Given the description of an element on the screen output the (x, y) to click on. 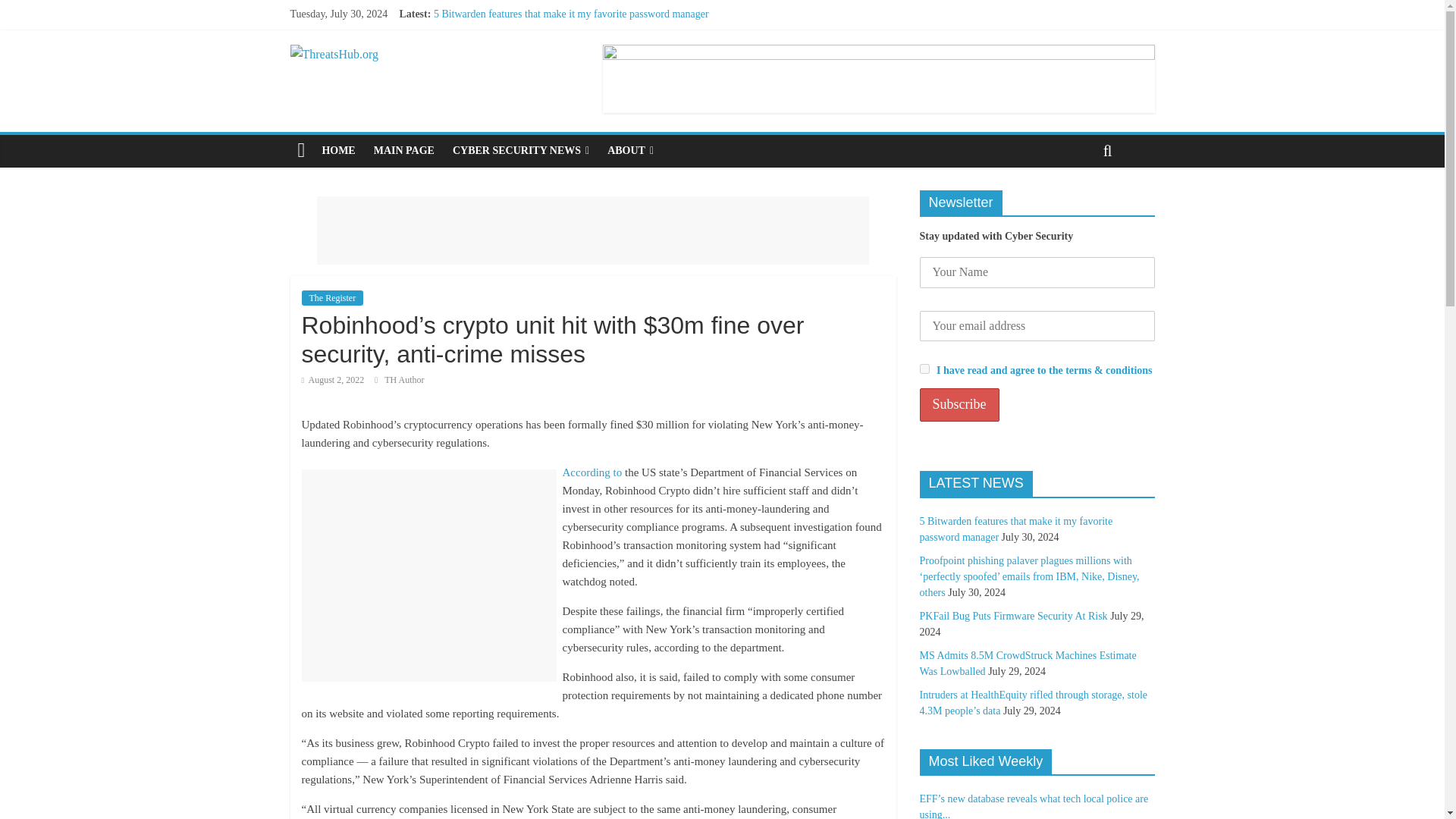
TH Author (403, 379)
MS Admits 8.5M CrowdStruck Machines Estimate Was Lowballed (576, 64)
The Register (332, 297)
According to (592, 472)
MS Admits 8.5M CrowdStruck Machines Estimate Was Lowballed (576, 64)
Subscribe (958, 404)
CYBER SECURITY NEWS (521, 151)
TH Author (403, 379)
HOME (338, 151)
August 2, 2022 (333, 379)
MAIN PAGE (404, 151)
1 (923, 368)
19:42 (333, 379)
